Given the description of an element on the screen output the (x, y) to click on. 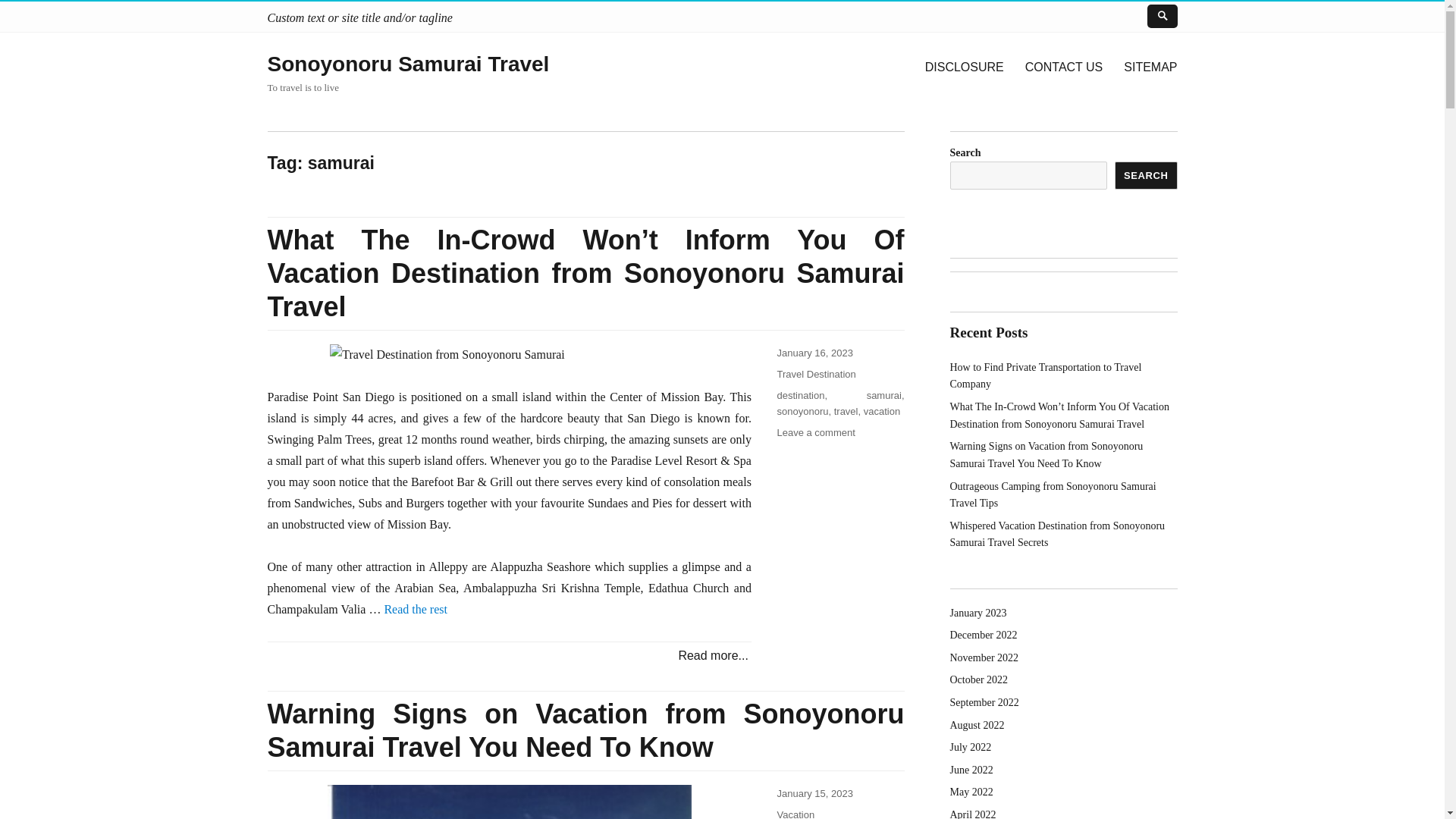
travel (846, 410)
Sonoyonoru Samurai Travel (407, 64)
sonoyonoru (802, 410)
Read more... (713, 655)
Read the rest (415, 608)
DISCLOSURE (964, 66)
January 15, 2023 (813, 793)
samurai (883, 395)
CONTACT US (1063, 66)
destination (800, 395)
